Given the description of an element on the screen output the (x, y) to click on. 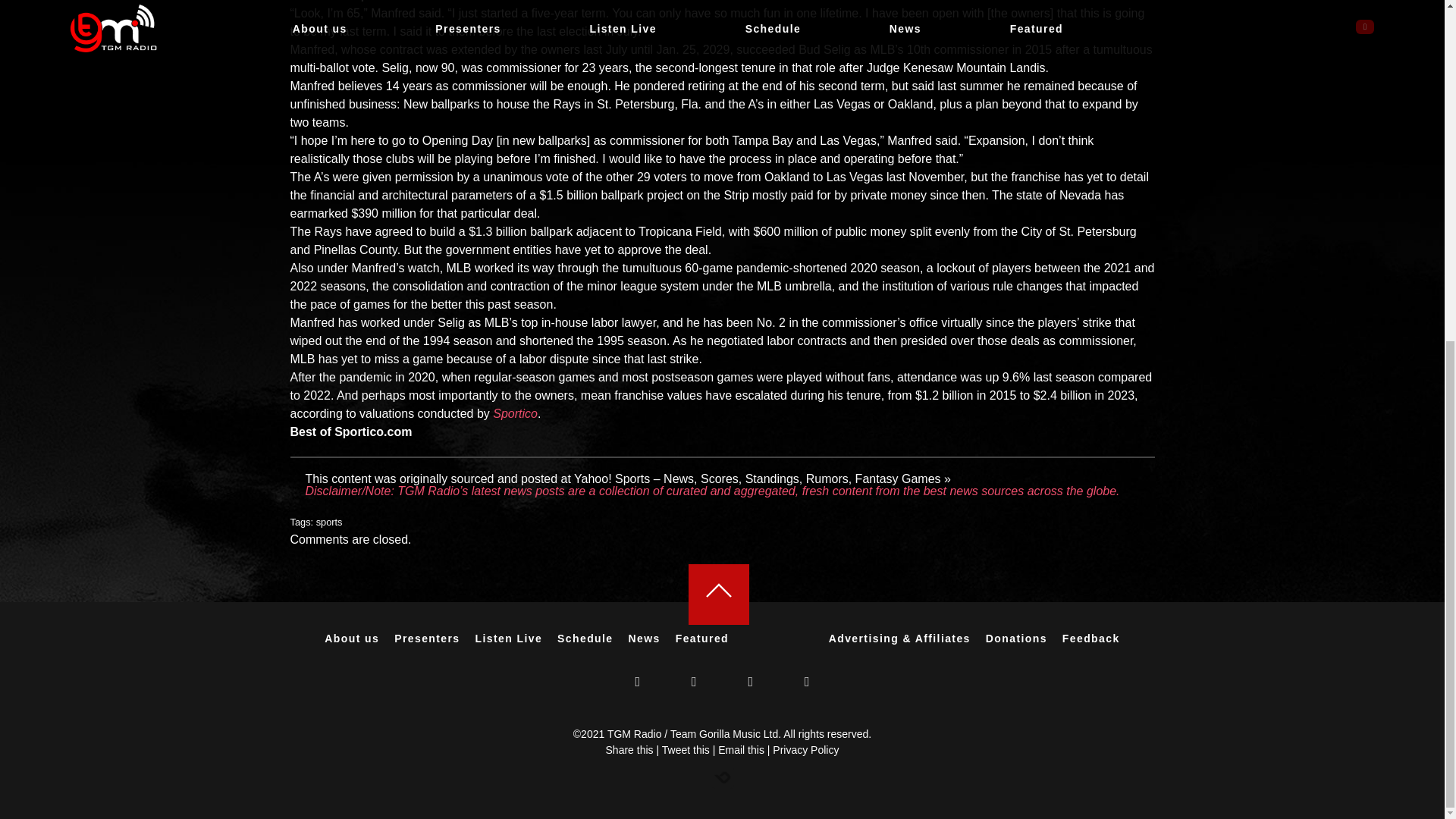
Listen Live (509, 638)
About us (351, 638)
valuations (386, 413)
extended (475, 49)
Presenters (427, 638)
permission (423, 176)
Feedback (511, 638)
Schedule (1090, 638)
sports (584, 638)
Tampa Bay (328, 521)
Donations (762, 140)
Rays (1015, 638)
Featured (566, 103)
News (702, 638)
